Given the description of an element on the screen output the (x, y) to click on. 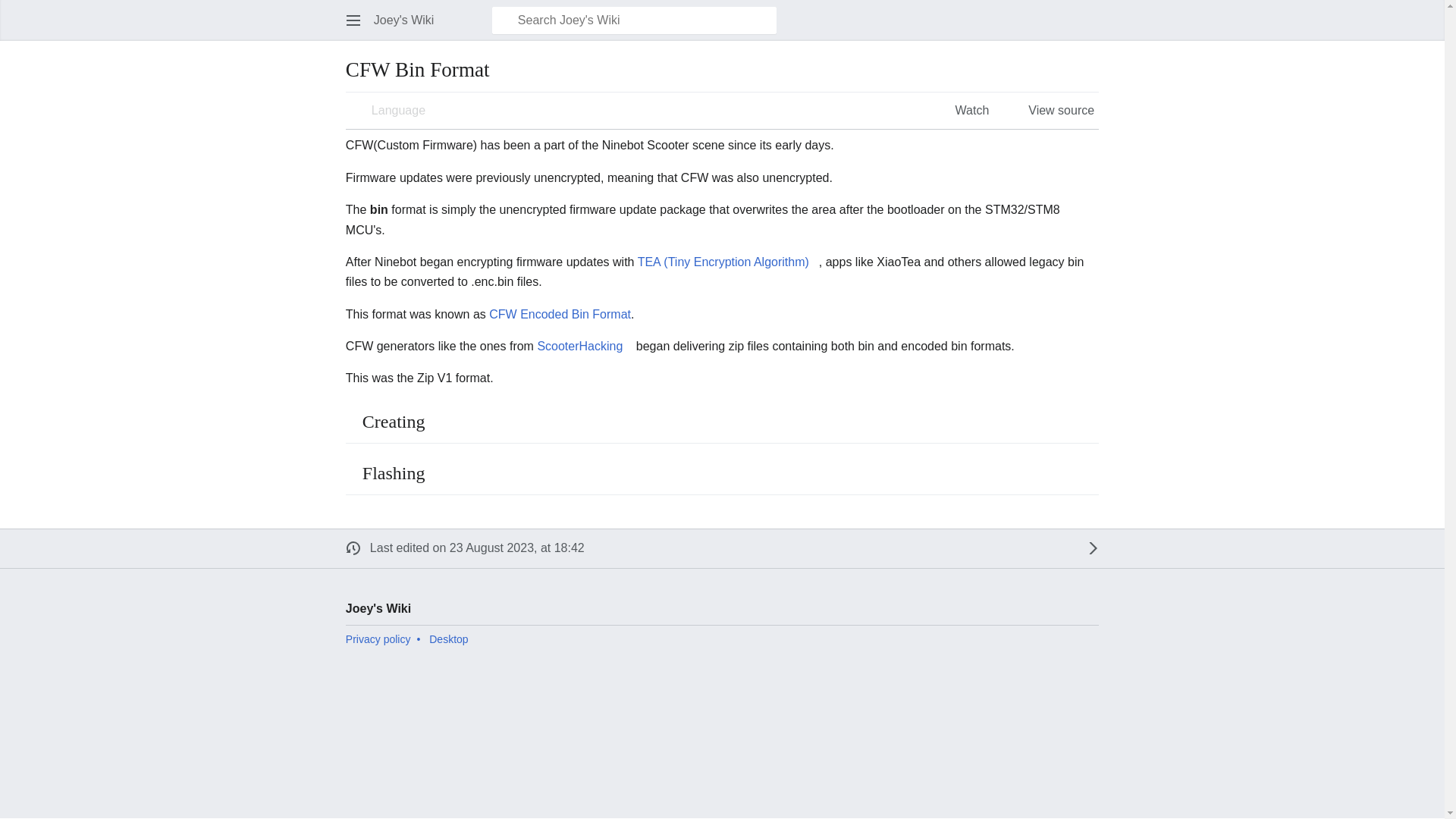
CFW Encoded Bin Format (559, 314)
View source (1050, 110)
ScooterHacking (584, 345)
Watch (961, 110)
CFW Encoded Bin Format (559, 314)
Privacy policy (378, 639)
Desktop (448, 639)
Language (386, 110)
Language (386, 110)
